Given the description of an element on the screen output the (x, y) to click on. 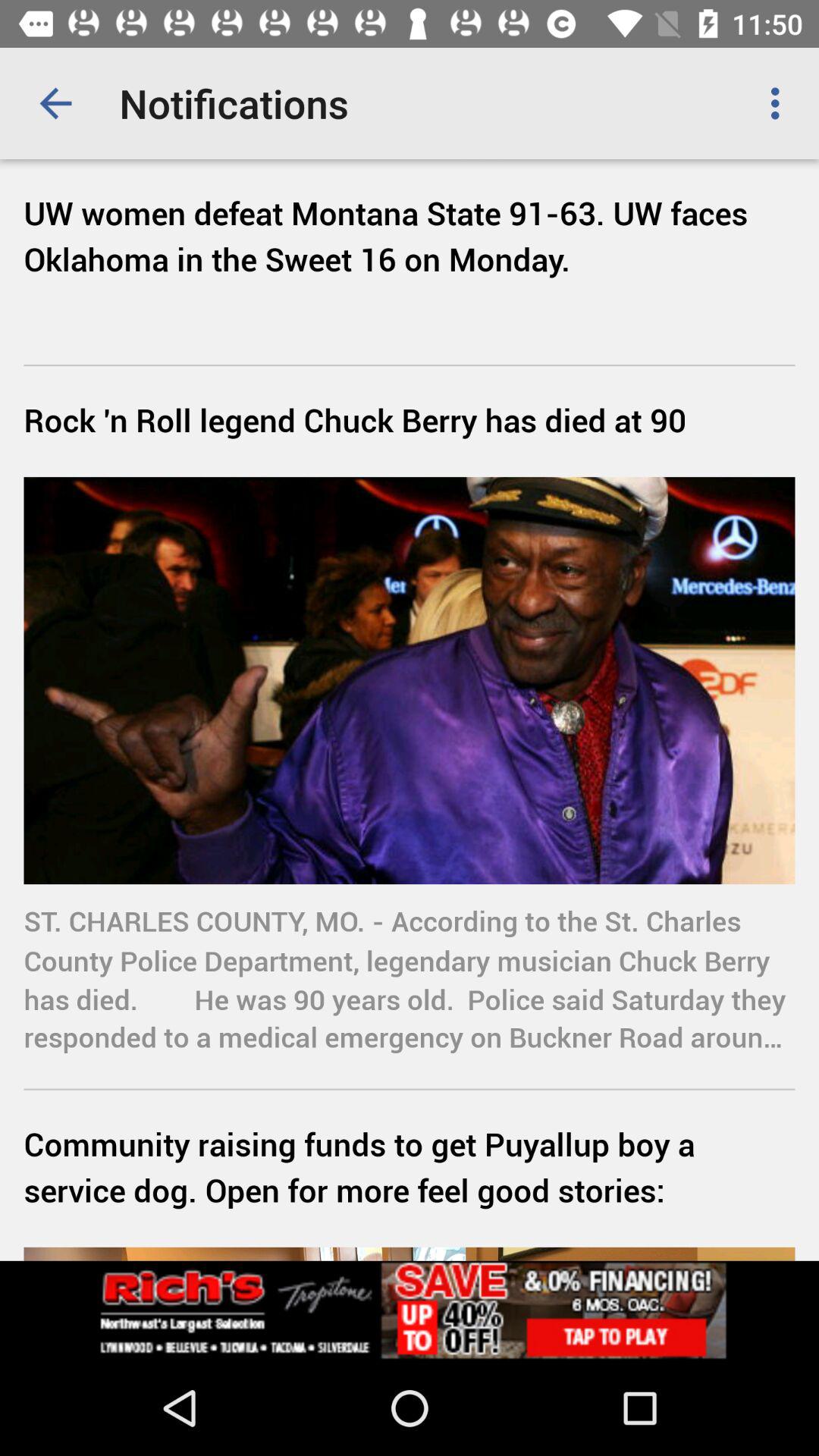
advertisement (409, 1310)
